Given the description of an element on the screen output the (x, y) to click on. 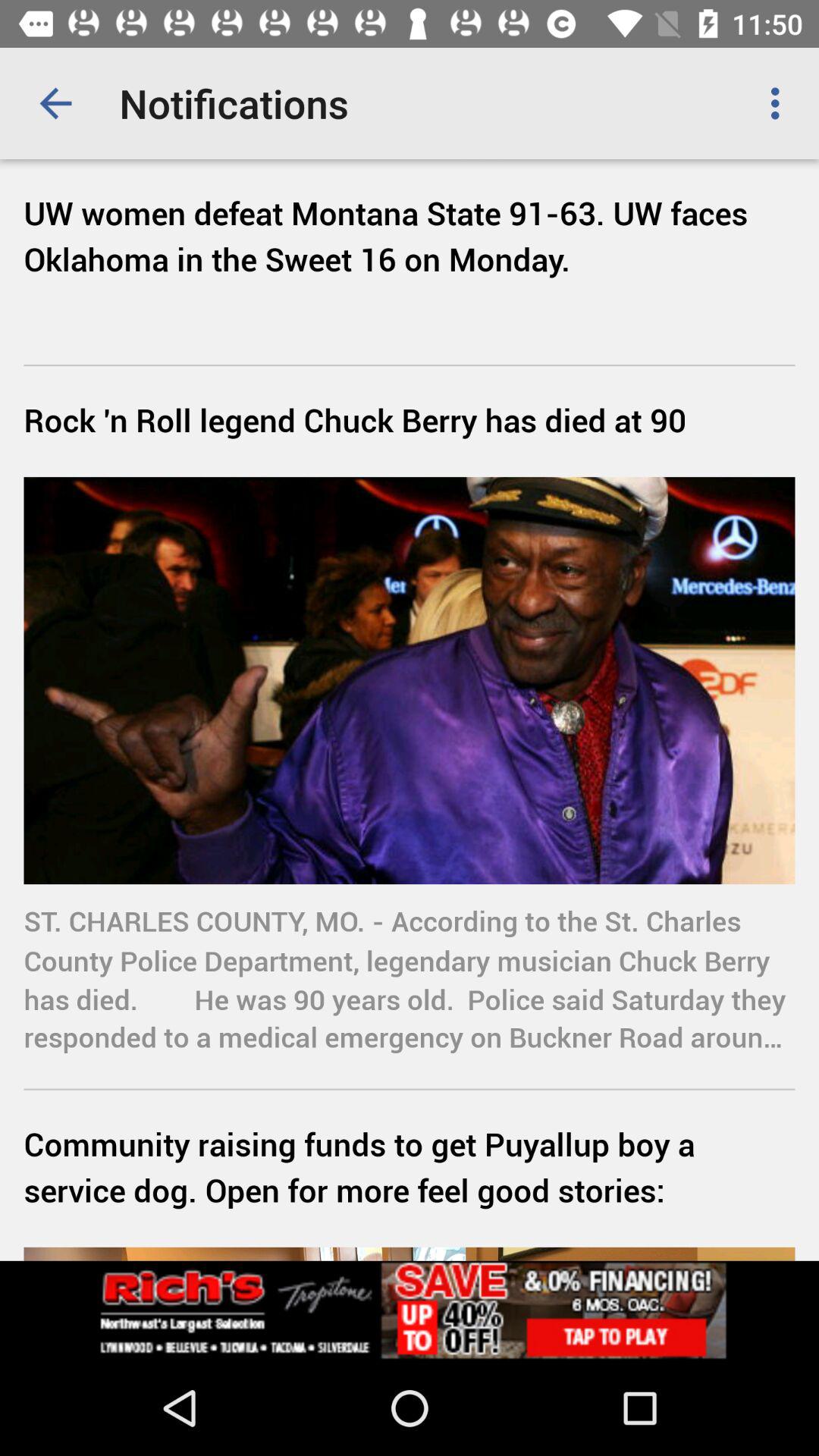
advertisement (409, 1310)
